Given the description of an element on the screen output the (x, y) to click on. 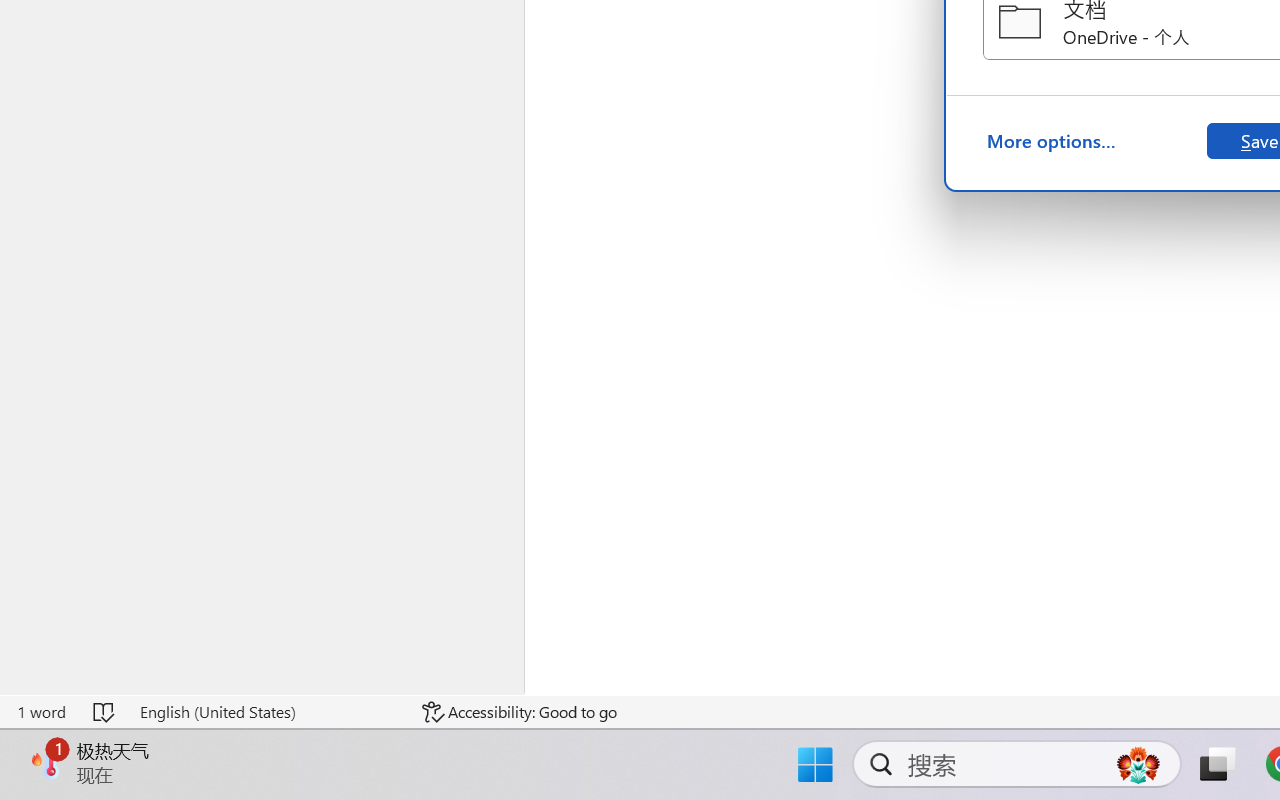
Word Count 1 word (41, 712)
AutomationID: BadgeAnchorLargeTicker (46, 762)
Language English (United States) (267, 712)
Accessibility Checker Accessibility: Good to go (519, 712)
Spelling and Grammar Check No Errors (105, 712)
